Given the description of an element on the screen output the (x, y) to click on. 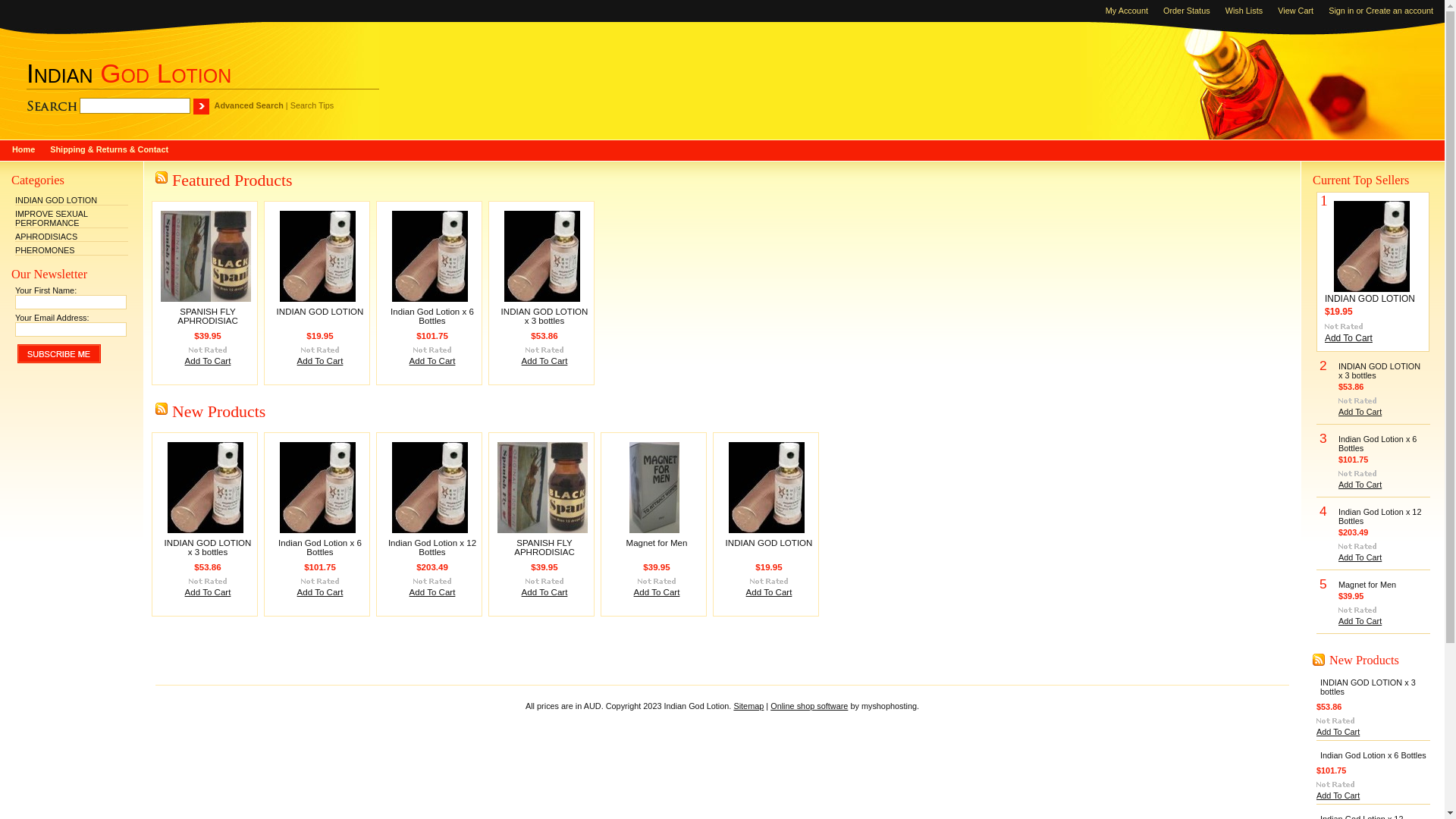
Add To Cart Element type: text (320, 591)
View Cart Element type: text (1287, 10)
Add To Cart Element type: text (432, 591)
INDIAN GOD LOTION Element type: text (768, 542)
Indian God Lotion x 6 Bottles Element type: text (431, 316)
Add To Cart Element type: text (544, 360)
Add To Cart Element type: text (208, 360)
INDIAN GOD LOTION x 3 bottles Element type: text (544, 316)
Home Element type: text (23, 150)
Add To Cart Element type: text (1359, 411)
INDIAN GOD LOTION Element type: text (1369, 298)
Indian God Lotion Element type: text (128, 72)
INDIAN GOD LOTION Element type: text (320, 311)
Indian God Lotion x 6 Bottles Element type: text (1373, 754)
INDIAN GOD LOTION x 3 bottles Element type: text (207, 547)
Create an account Element type: text (1399, 10)
Wish Lists Element type: text (1236, 10)
Order Status Element type: text (1179, 10)
Advanced Search Element type: text (248, 104)
My Account Element type: text (1119, 10)
Add To Cart Element type: text (432, 360)
Add To Cart Element type: text (1348, 337)
Sitemap Element type: text (748, 705)
Magnet for Men Element type: text (656, 542)
Add To Cart Element type: text (656, 591)
Add To Cart Element type: text (320, 360)
SPANISH FLY APHRODISIAC Element type: text (544, 547)
Add To Cart Element type: text (769, 591)
Add To Cart Element type: text (544, 591)
SPANISH FLY APHRODISIAC Element type: text (207, 316)
Add To Cart Element type: text (1337, 795)
New Products RSS Feed Element type: hover (1318, 659)
Search Tips Element type: text (311, 104)
Online shop software Element type: text (808, 705)
Add To Cart Element type: text (1359, 620)
Magnet for Men Element type: text (1367, 584)
Indian God Lotion x 12 Bottles Element type: text (432, 547)
INDIAN GOD LOTION x 3 bottles Element type: text (1379, 370)
PHEROMONES Element type: text (45, 249)
APHRODISIACS Element type: text (46, 236)
IMPROVE SEXUAL PERFORMANCE Element type: text (51, 218)
Add To Cart Element type: text (208, 591)
Sign in Element type: text (1340, 10)
Add To Cart Element type: text (1359, 484)
Add To Cart Element type: text (1337, 731)
New Products RSS Feed Element type: hover (161, 408)
Indian God Lotion x 6 Bottles Element type: text (319, 547)
Add To Cart Element type: text (1359, 556)
Featured Products RSS Feed Element type: hover (161, 177)
INDIAN GOD LOTION Element type: text (56, 199)
Indian God Lotion x 12 Bottles Element type: text (1379, 516)
Shipping & Returns & Contact Element type: text (108, 150)
Indian God Lotion x 6 Bottles Element type: text (1377, 443)
INDIAN GOD LOTION x 3 bottles Element type: text (1367, 686)
